Given the description of an element on the screen output the (x, y) to click on. 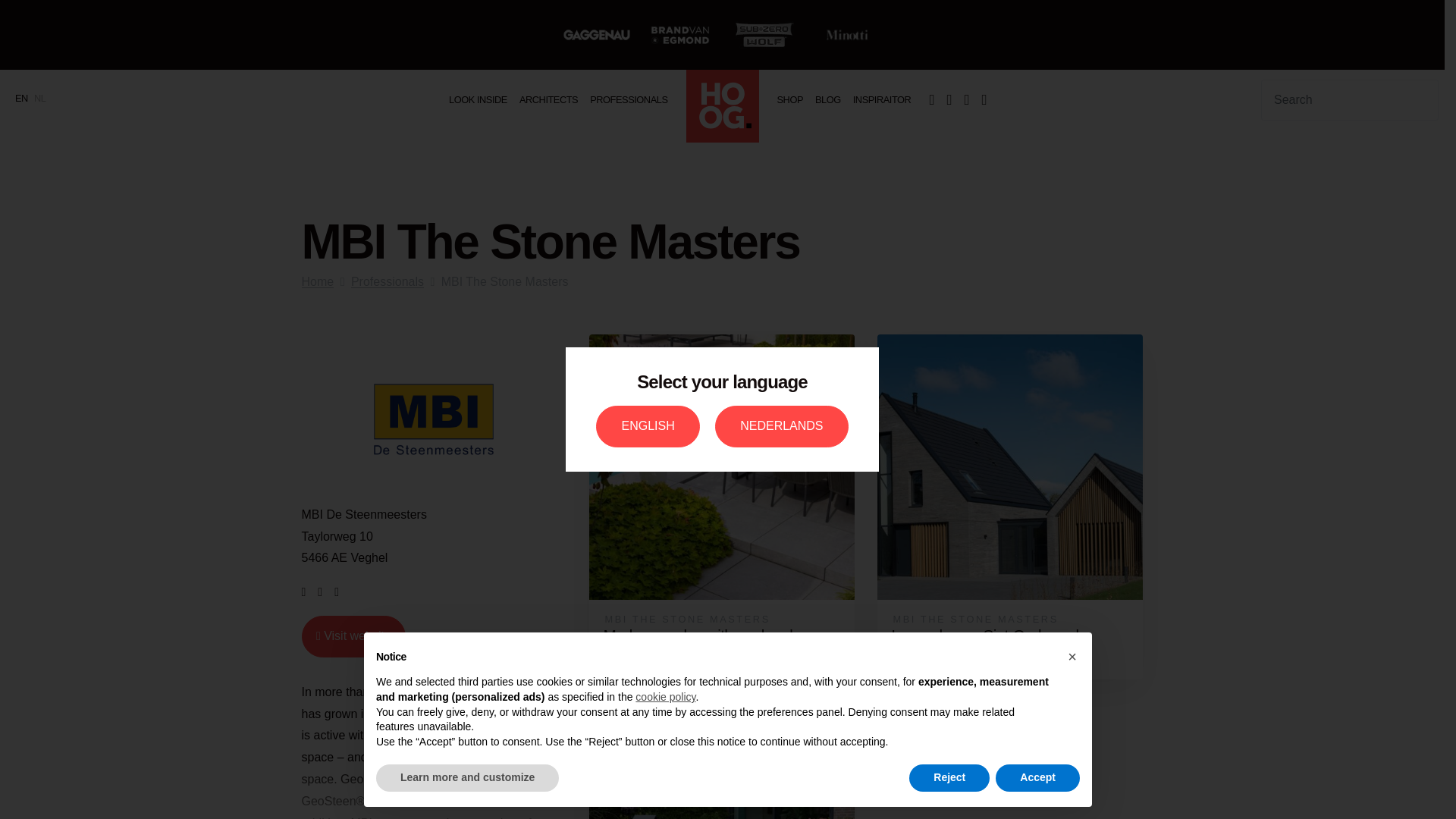
PROFESSIONALS (627, 99)
Professionals (627, 99)
Look inside (477, 99)
ARCHITECTS (548, 99)
Inspiraitor (882, 99)
LOOK INSIDE (477, 99)
Shop (789, 99)
Architects (548, 99)
Blog (828, 99)
